Given the description of an element on the screen output the (x, y) to click on. 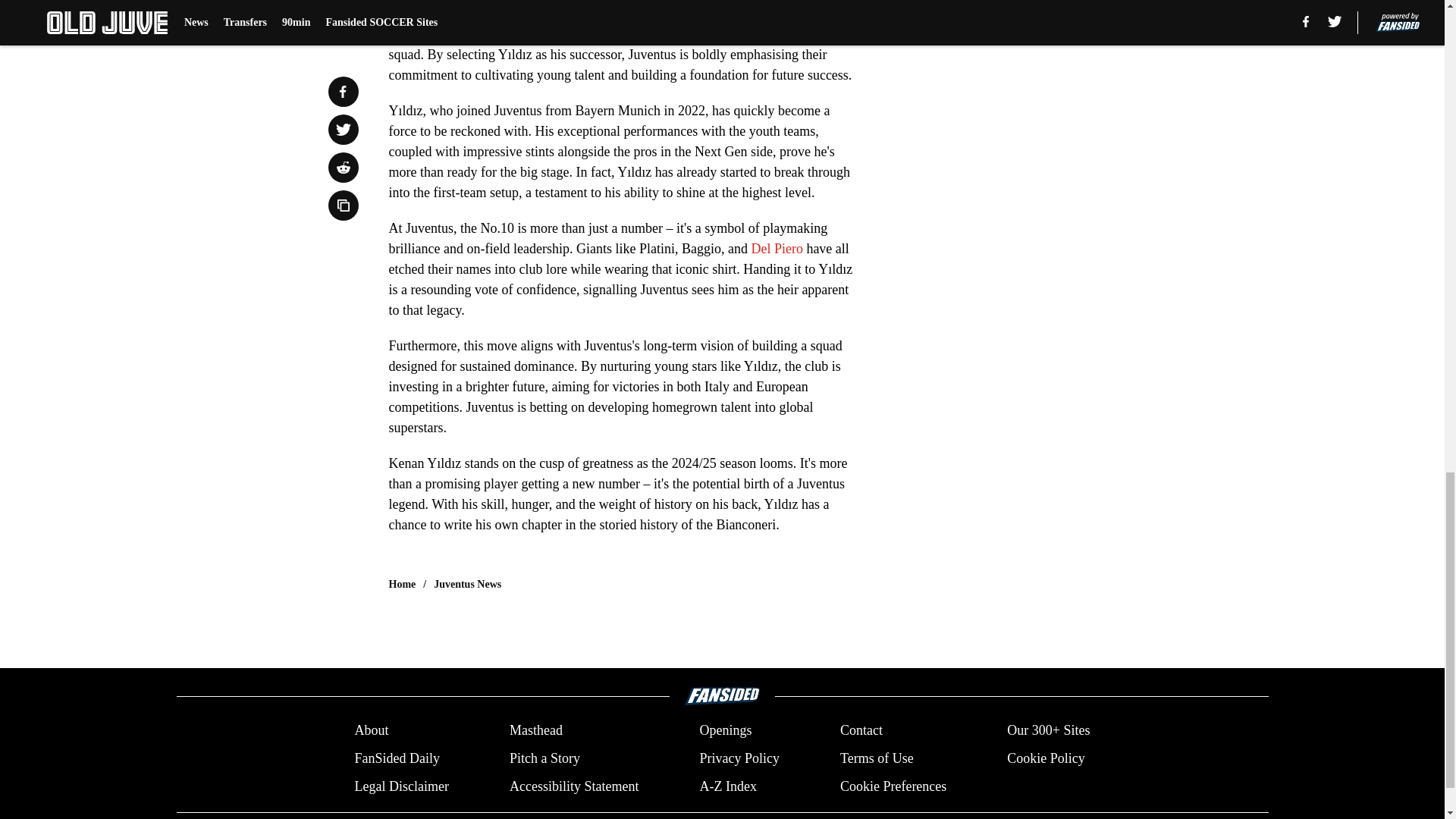
Accessibility Statement (574, 786)
Openings (724, 730)
Juventus News (466, 584)
About (370, 730)
Terms of Use (877, 758)
FanSided Daily (396, 758)
Cookie Policy (1045, 758)
Paul Pogba's unfortunate four-year ban from football (616, 23)
Del Piero (776, 248)
Cookie Preferences (893, 786)
A-Z Index (726, 786)
Contact (861, 730)
Home (401, 584)
Legal Disclaimer (400, 786)
Pitch a Story (544, 758)
